Given the description of an element on the screen output the (x, y) to click on. 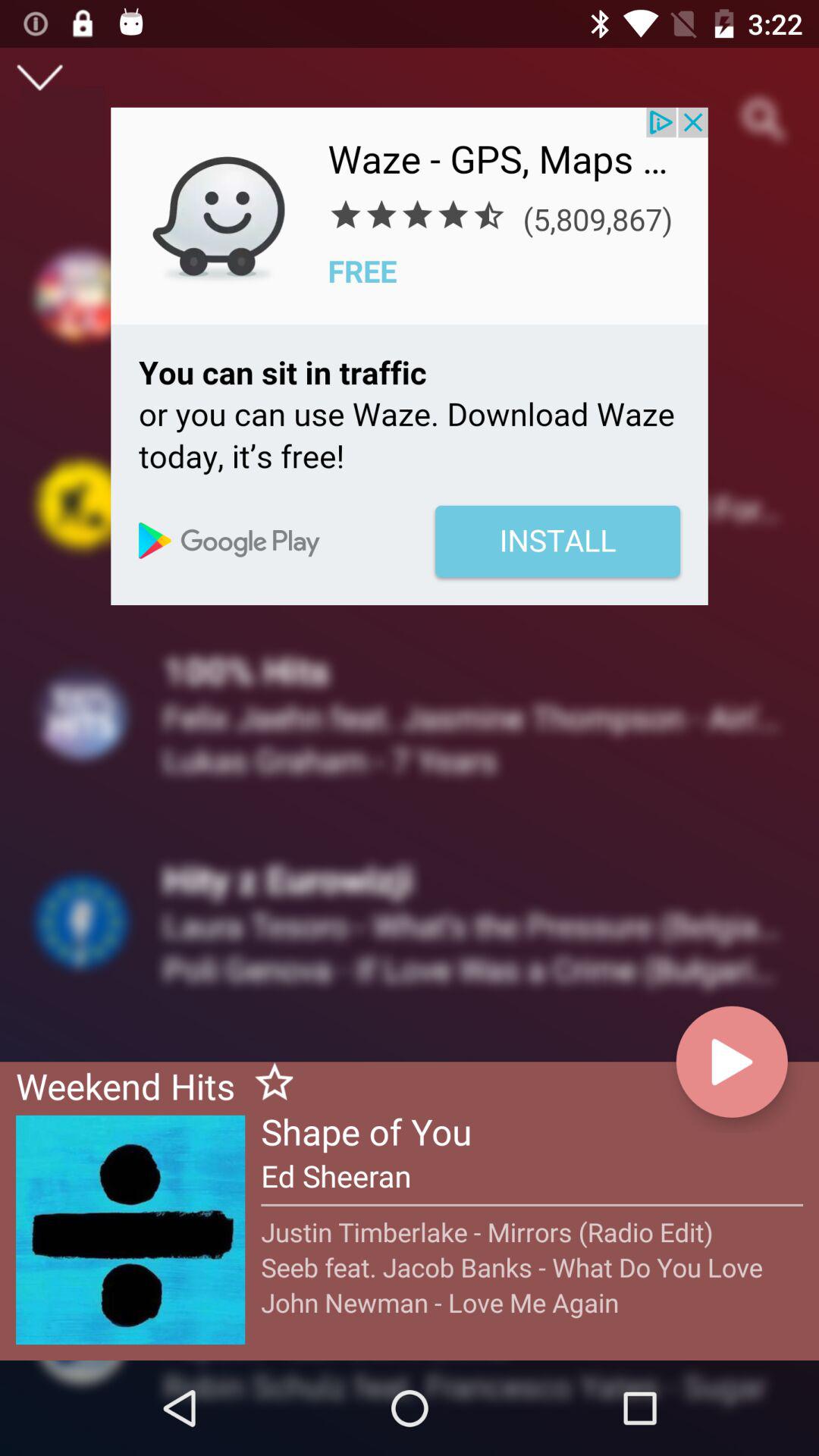
view more options (39, 77)
